Given the description of an element on the screen output the (x, y) to click on. 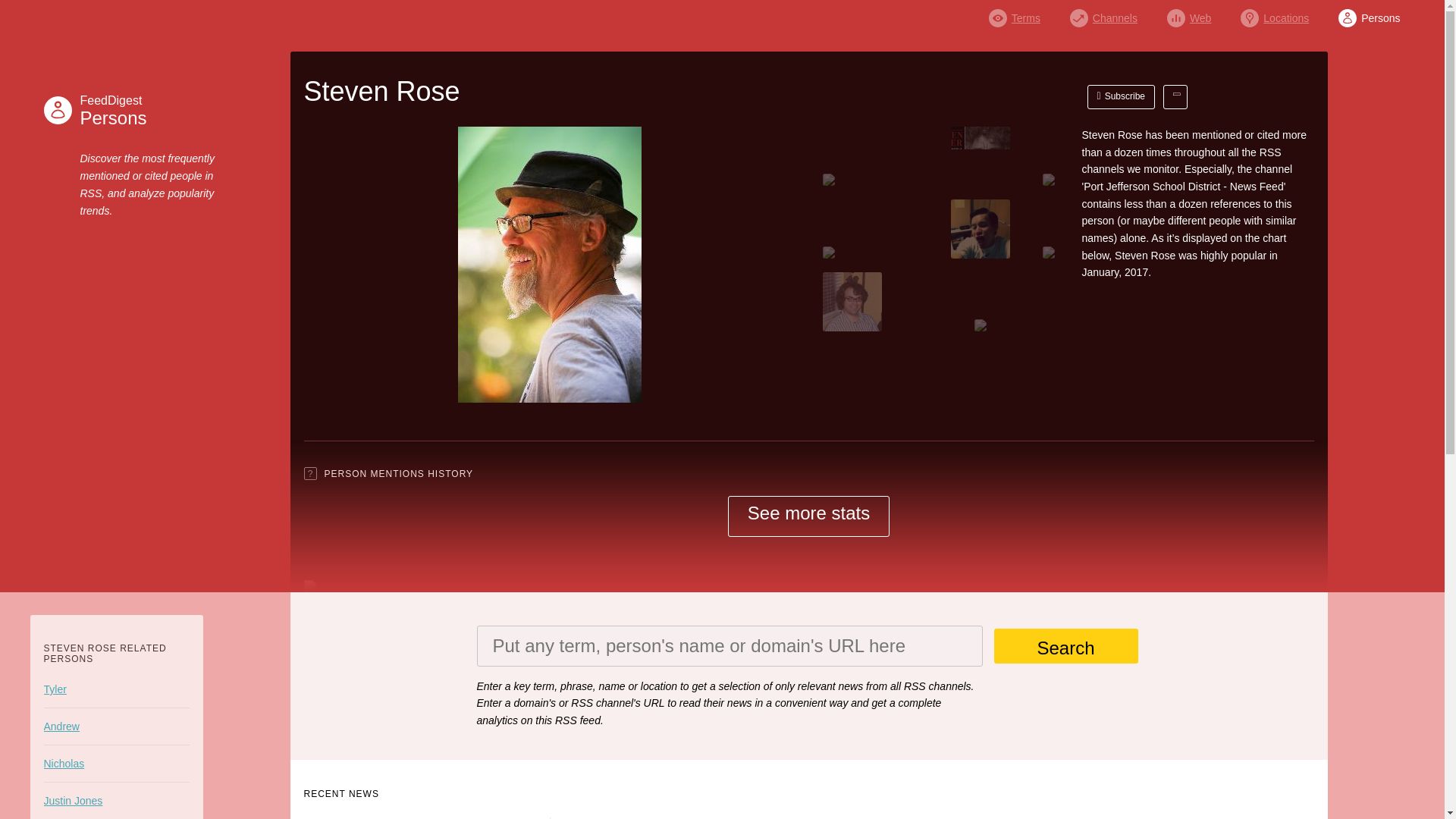
Web (1189, 14)
Locations (1274, 14)
Tyler (116, 689)
Terms (1014, 14)
Channels (1103, 14)
Persons (1368, 14)
Search (1064, 645)
See more stats (808, 516)
Subscribe (114, 109)
